Given the description of an element on the screen output the (x, y) to click on. 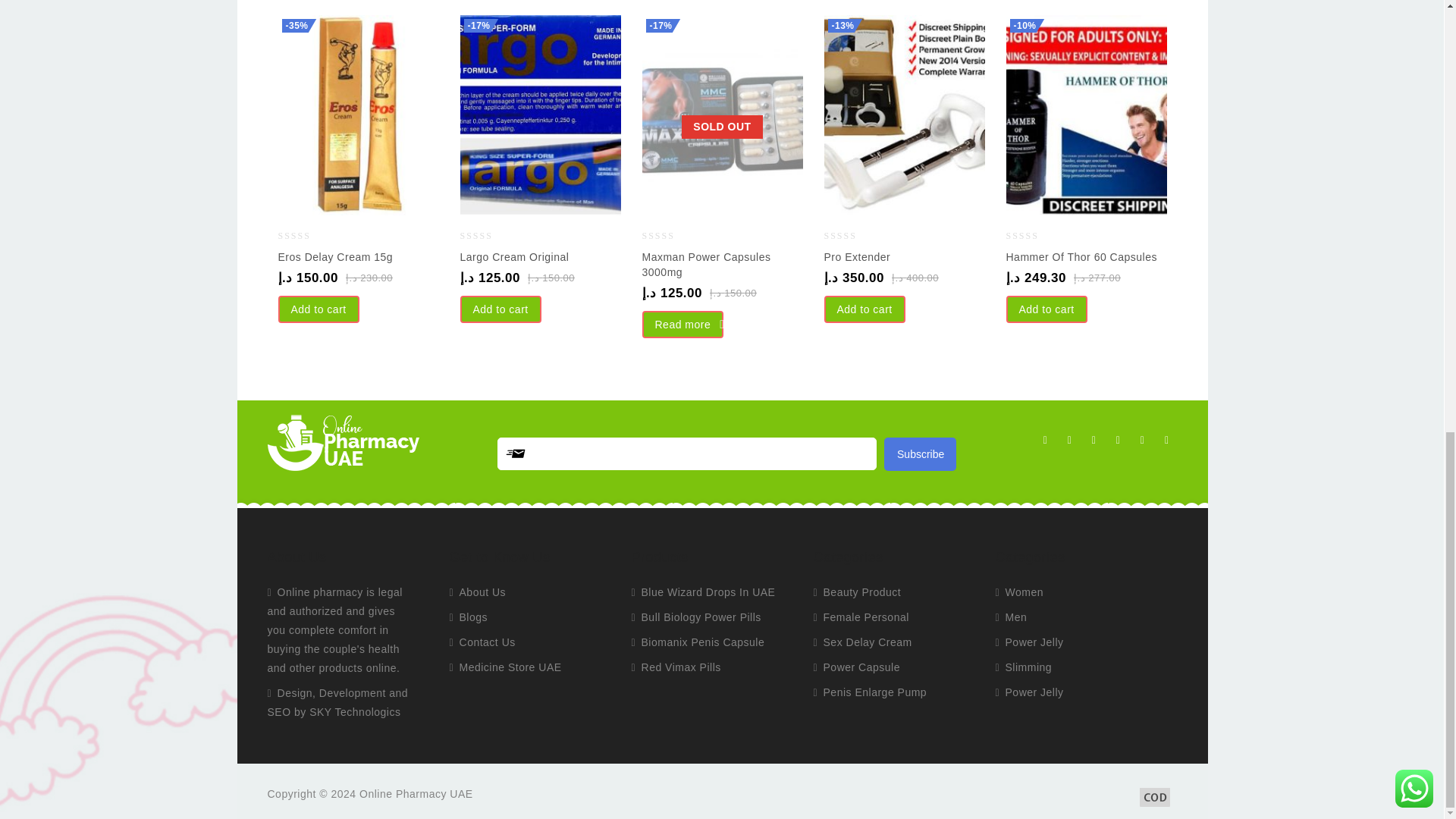
Not yet rated (307, 235)
Subscribe (919, 453)
